Given the description of an element on the screen output the (x, y) to click on. 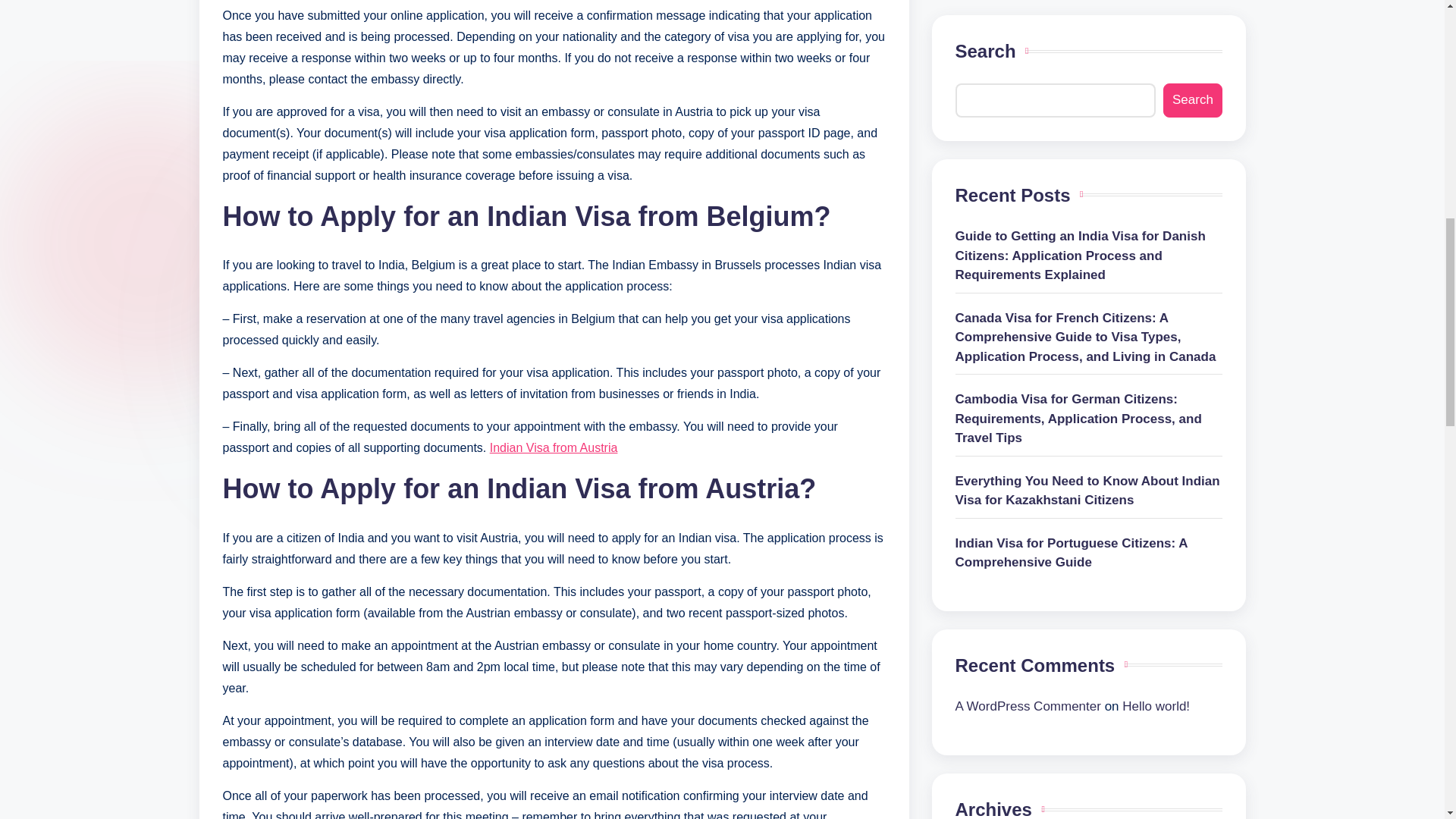
Hello world! (1155, 37)
Indian Visa from Austria (553, 447)
A WordPress Commenter (1027, 37)
